Given the description of an element on the screen output the (x, y) to click on. 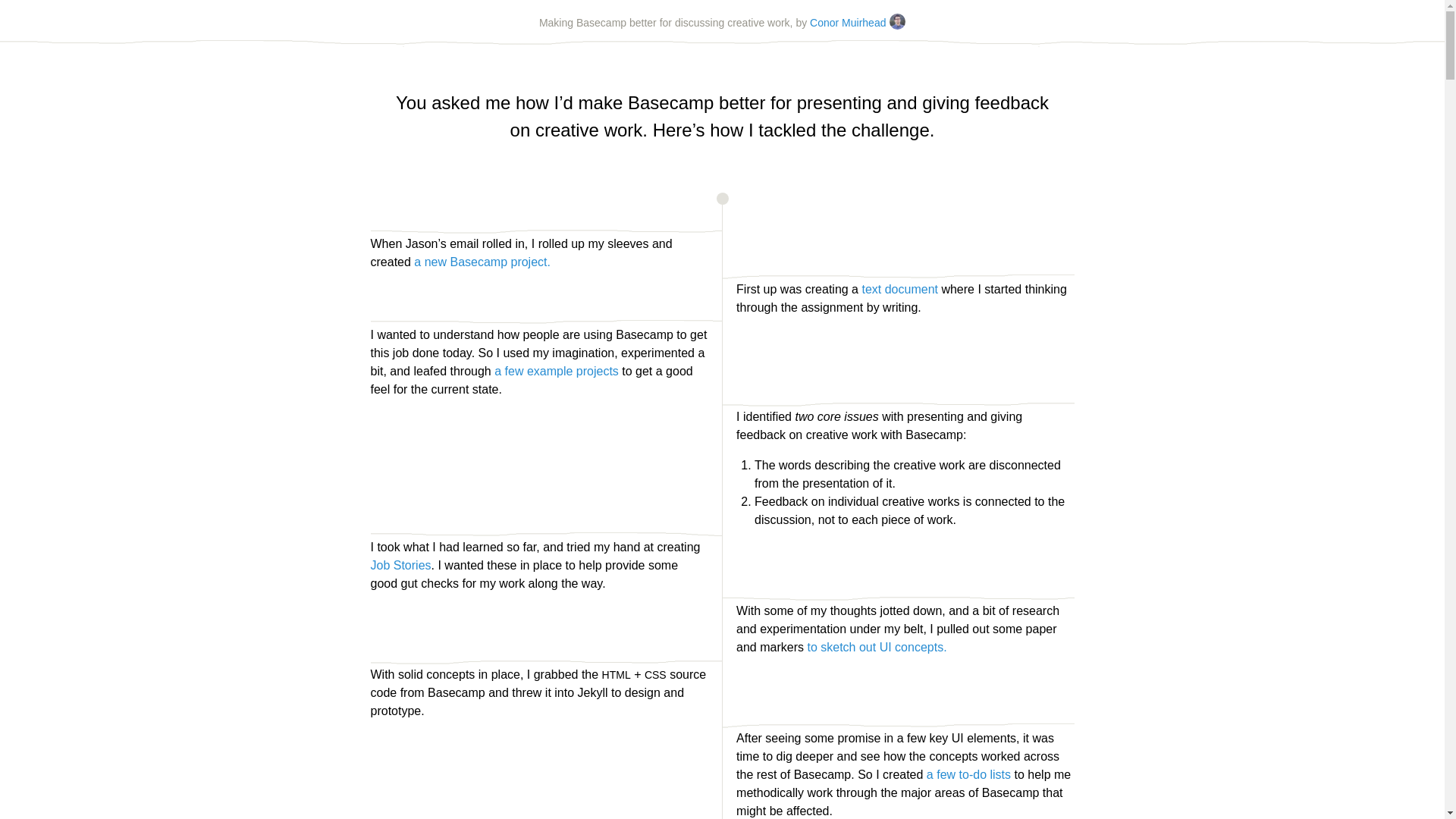
Job Stories Element type: text (400, 564)
to-do Element type: text (972, 774)
lists Element type: text (999, 774)
concepts. Element type: text (920, 646)
Conor Muirhead Element type: text (857, 22)
UI Element type: text (885, 646)
a new Basecamp project. Element type: text (482, 261)
out Element type: text (867, 646)
to Element type: text (811, 646)
a few Element type: text (940, 774)
sketch Element type: text (837, 646)
text document Element type: text (899, 288)
a few example projects Element type: text (556, 370)
